Given the description of an element on the screen output the (x, y) to click on. 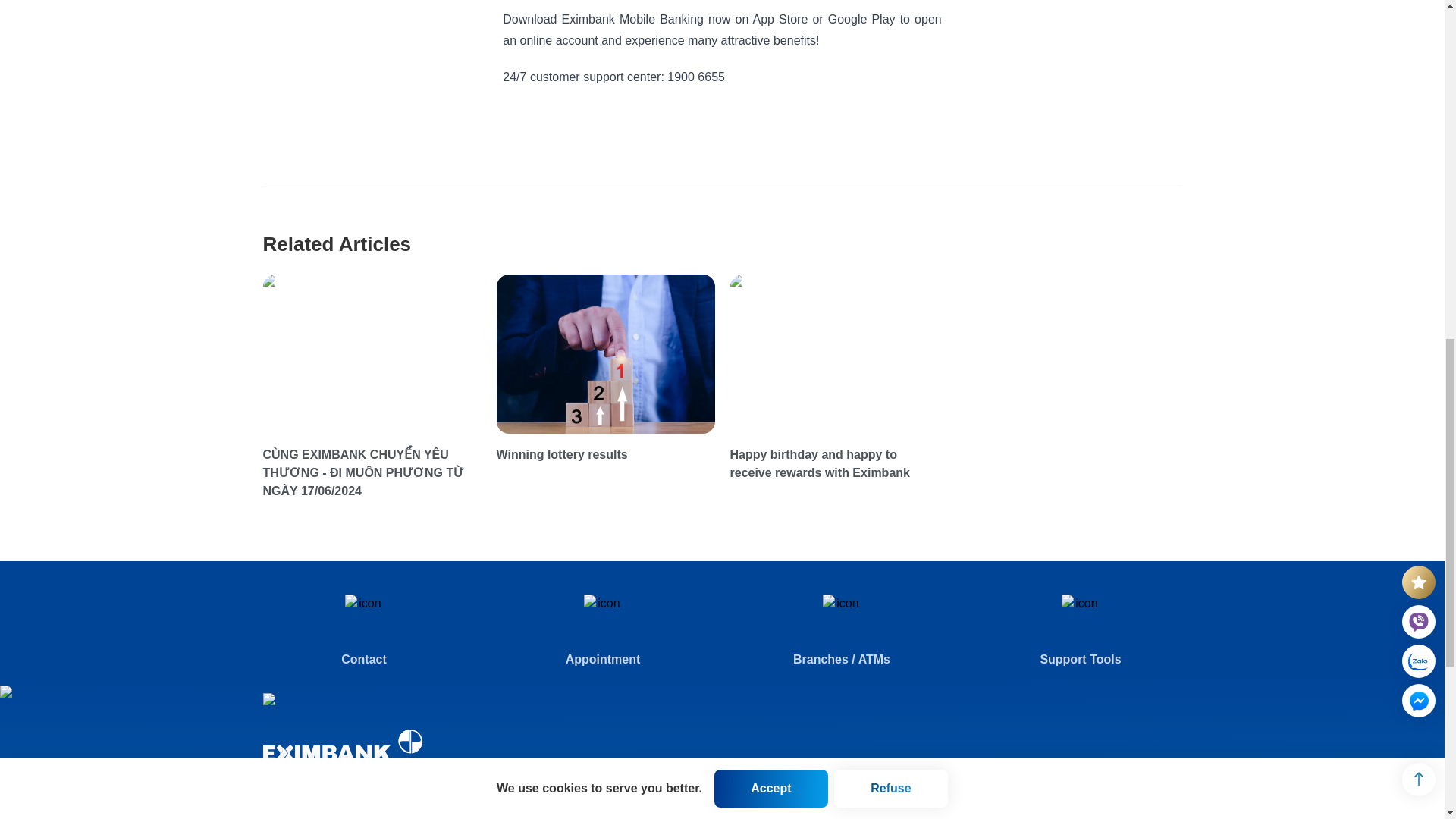
Appointment (603, 631)
Corporate (880, 786)
Contact (363, 631)
Support Tools (1080, 631)
Eximbank newsletter (668, 811)
News (668, 786)
Happy birthday and happy to receive rewards with Eximbank (838, 463)
Cash management (880, 811)
Winning lottery results (605, 454)
